Given the description of an element on the screen output the (x, y) to click on. 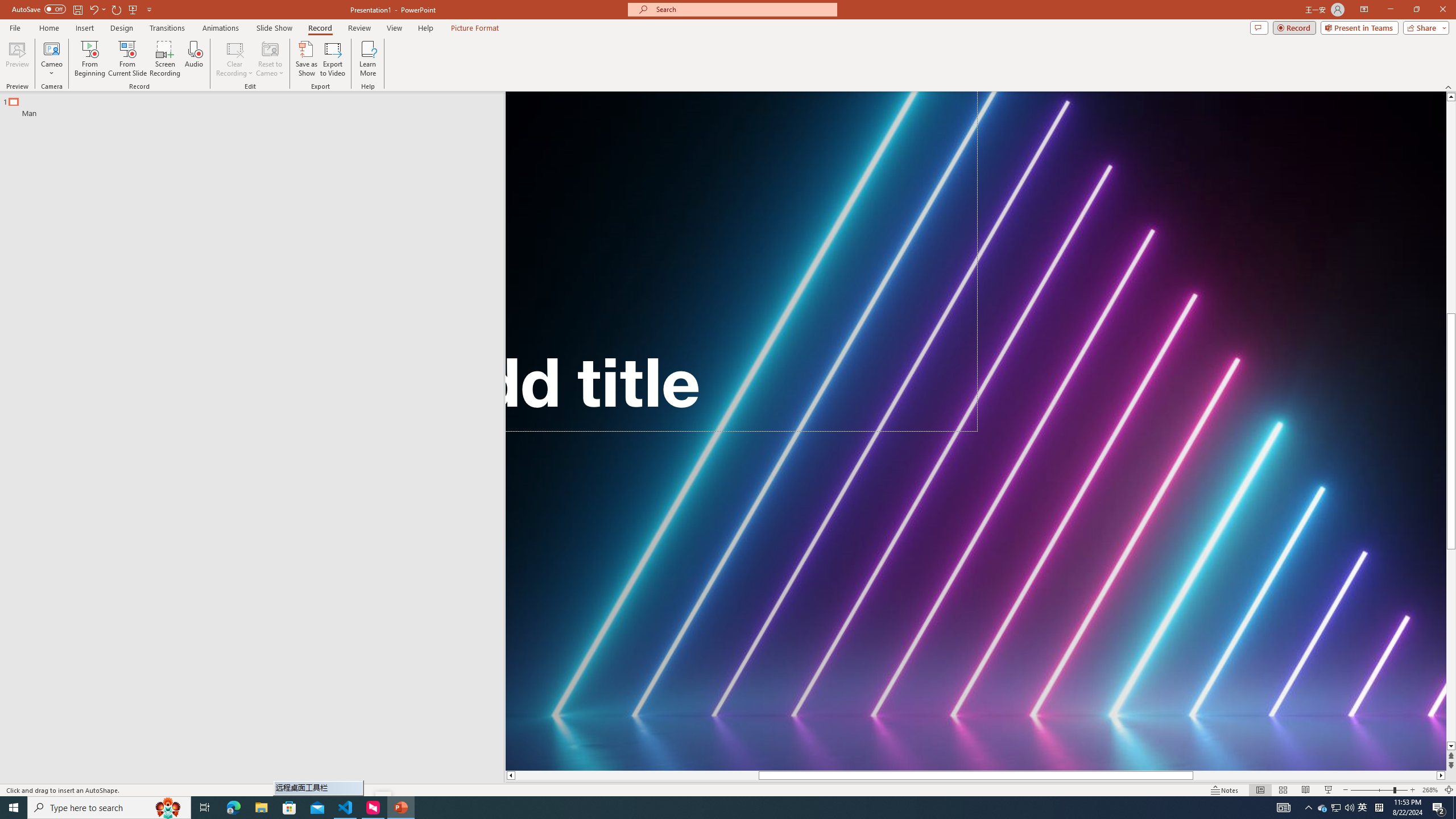
Record (1294, 27)
Collapse the Ribbon (1448, 86)
Comments (1259, 27)
Save as Show (306, 58)
From Beginning... (89, 58)
From Beginning (133, 9)
Ribbon Display Options (1364, 9)
Preview (17, 58)
Zoom 268% (1430, 790)
View (395, 28)
Normal (1260, 790)
Animations (220, 28)
Export to Video (332, 58)
Customize Quick Access Toolbar (149, 9)
